Given the description of an element on the screen output the (x, y) to click on. 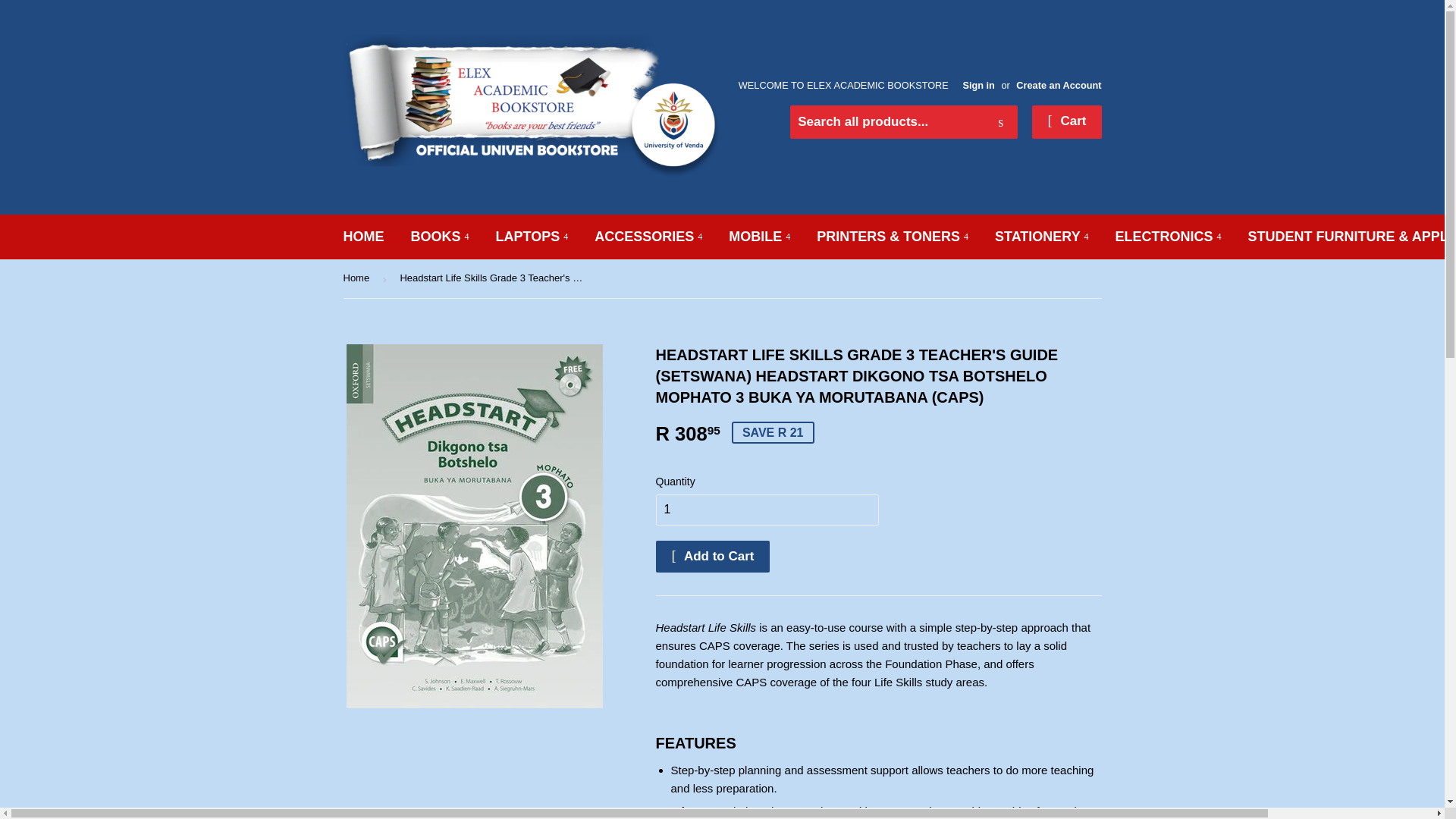
HOME (363, 236)
BOOKS (439, 236)
ACCESSORIES (648, 236)
Cart (1066, 121)
Back to the frontpage (358, 278)
Create an Account (1058, 84)
Sign in (978, 84)
Search (1000, 122)
1 (766, 509)
LAPTOPS (531, 236)
